Given the description of an element on the screen output the (x, y) to click on. 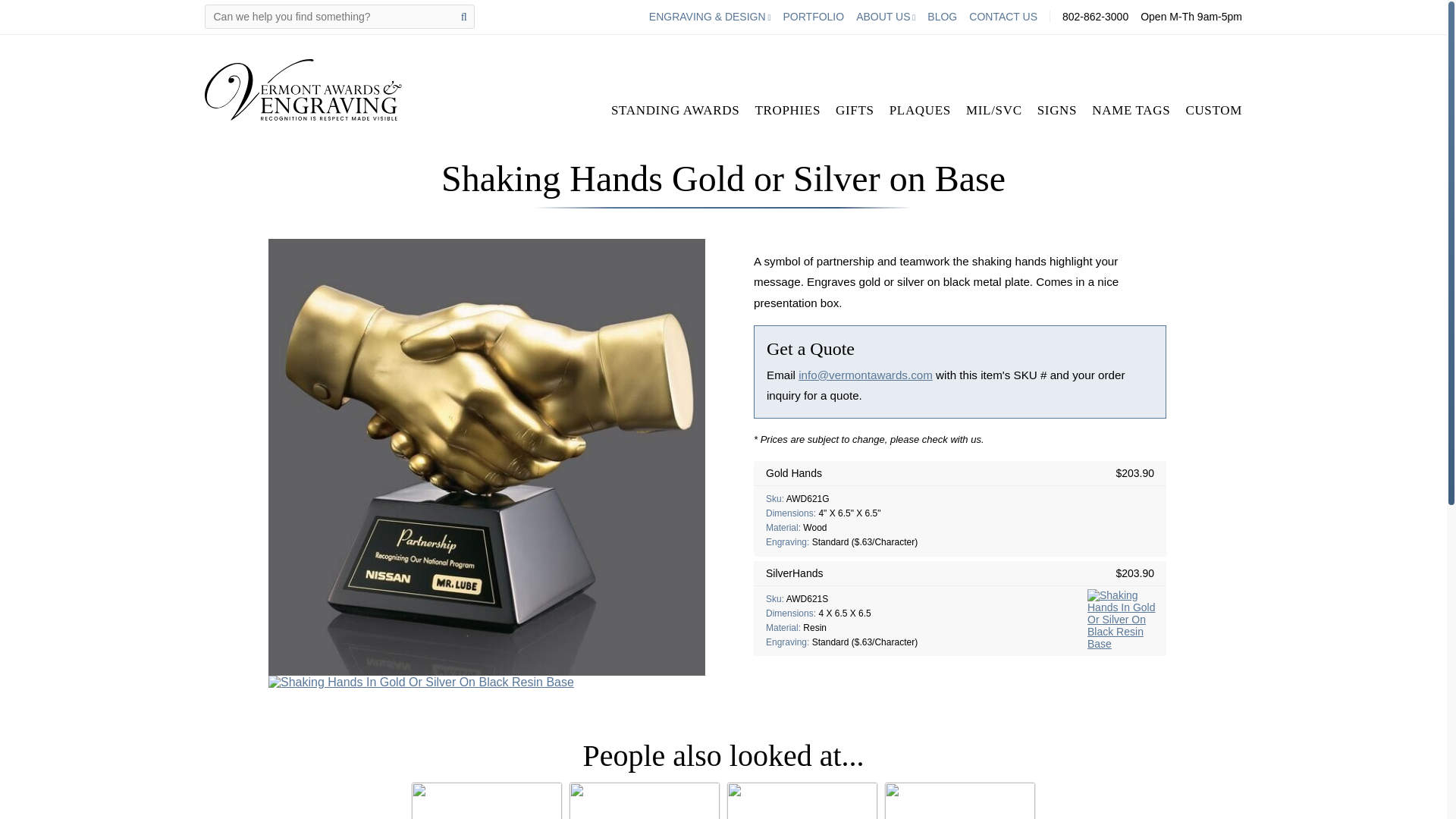
Return Home (303, 89)
SIGNS (1056, 109)
STANDING AWARDS (675, 109)
PORTFOLIO (813, 16)
CONTACT US (1002, 16)
PLAQUES (919, 109)
802-862-3000 (1095, 16)
TROPHIES (787, 109)
GIFTS (855, 109)
CUSTOM (1213, 109)
NAME TAGS (1131, 109)
BLOG (941, 16)
